Given the description of an element on the screen output the (x, y) to click on. 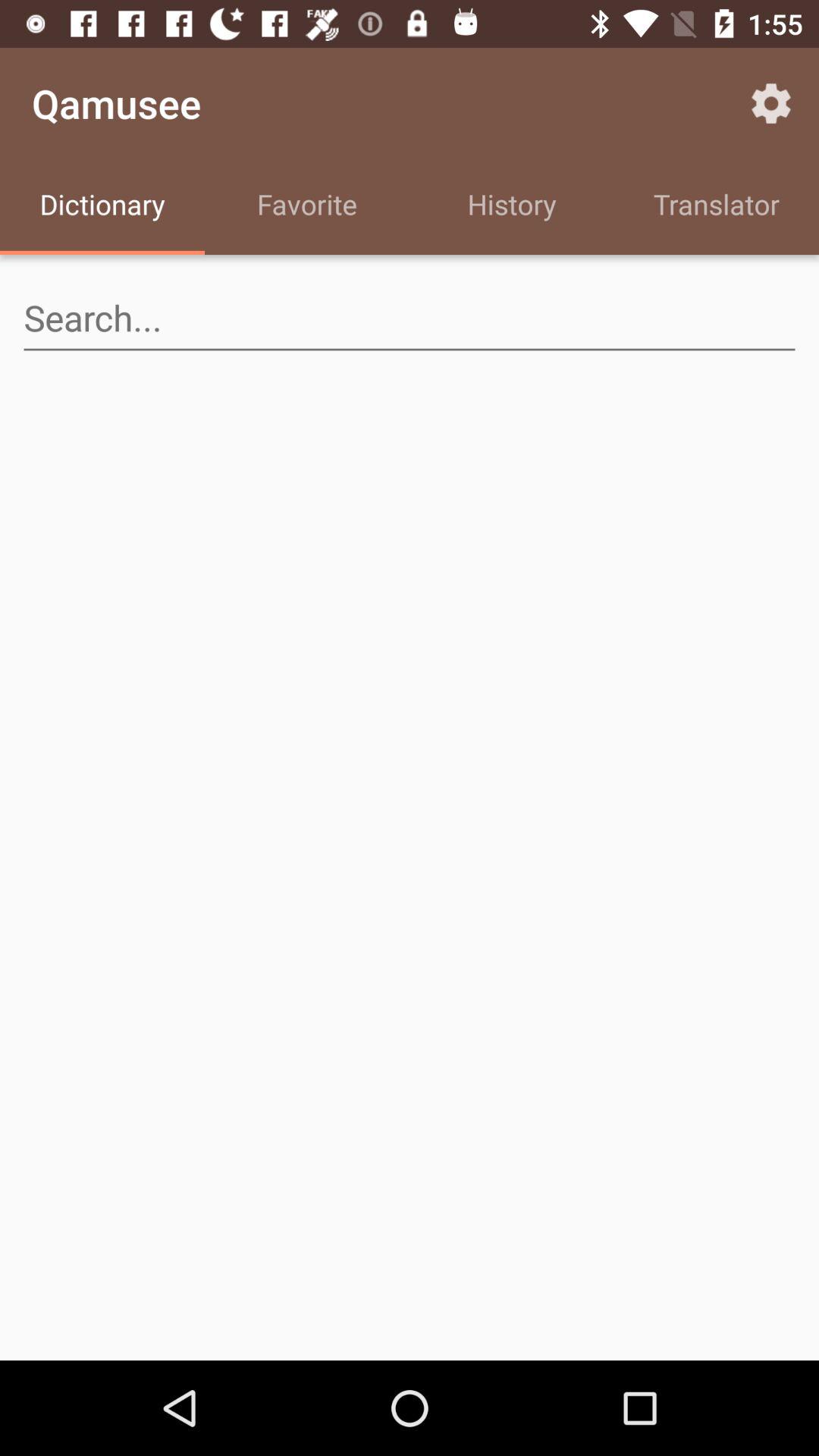
select item next to the history icon (771, 103)
